Given the description of an element on the screen output the (x, y) to click on. 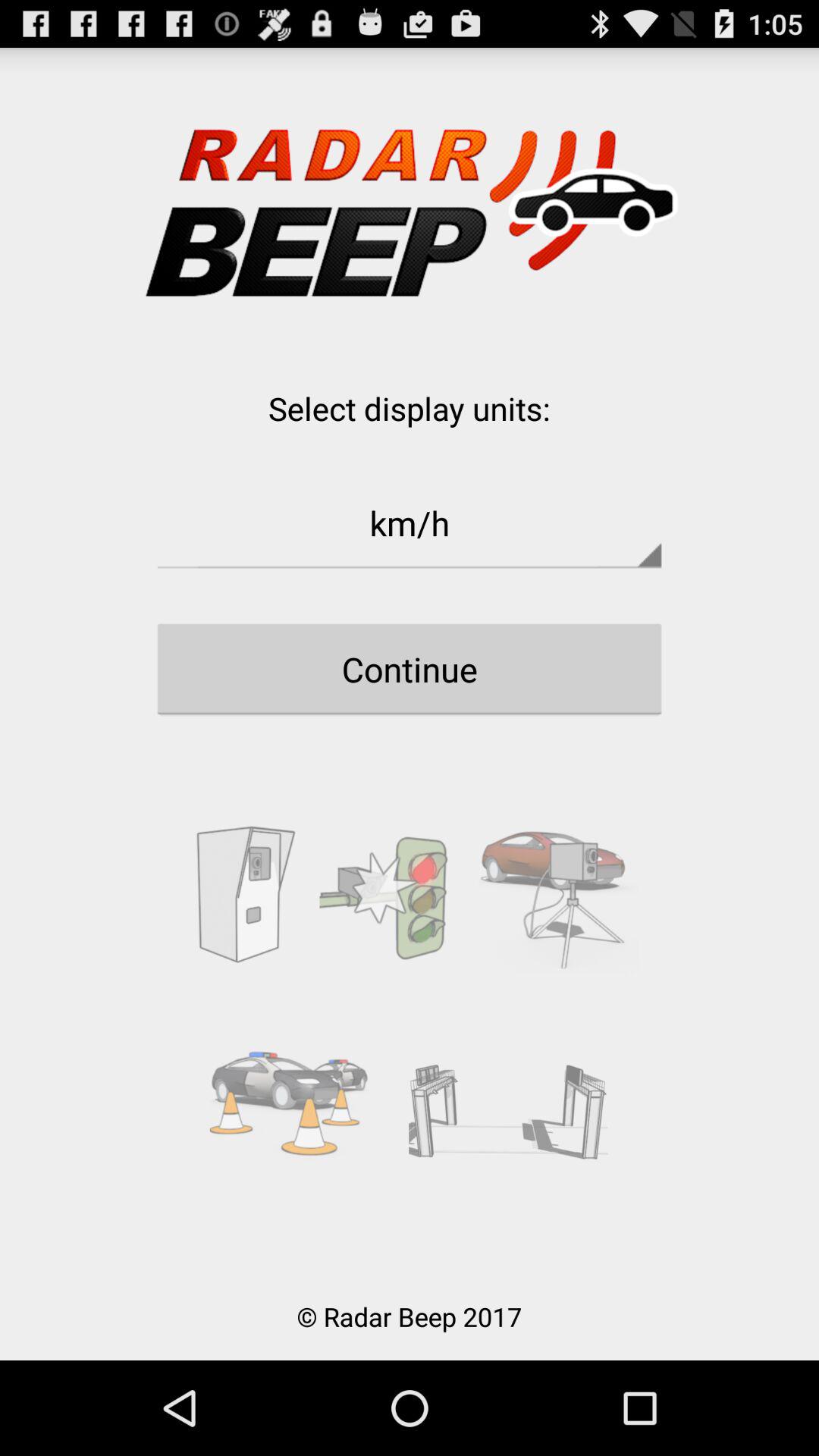
open the km/h (409, 522)
